Given the description of an element on the screen output the (x, y) to click on. 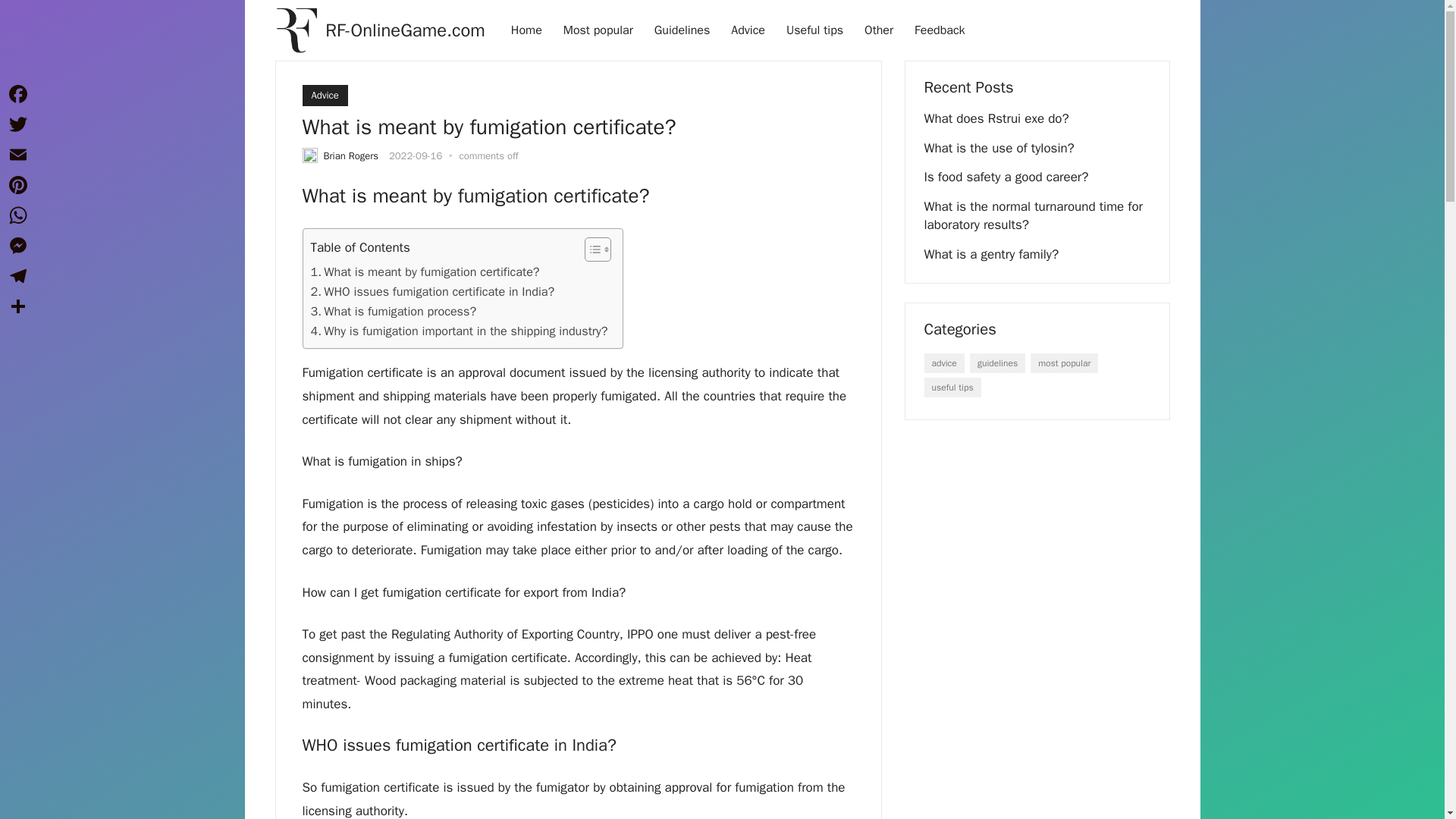
Most popular (598, 30)
RF-OnlineGame.com (404, 30)
What is fumigation process? (394, 311)
Why is fumigation important in the shipping industry? (459, 331)
Feedback (939, 30)
Other (878, 30)
Advice (324, 95)
Posts by Brian Rogers (350, 155)
What is meant by fumigation certificate? (425, 271)
WHO issues fumigation certificate in India? (432, 291)
